Given the description of an element on the screen output the (x, y) to click on. 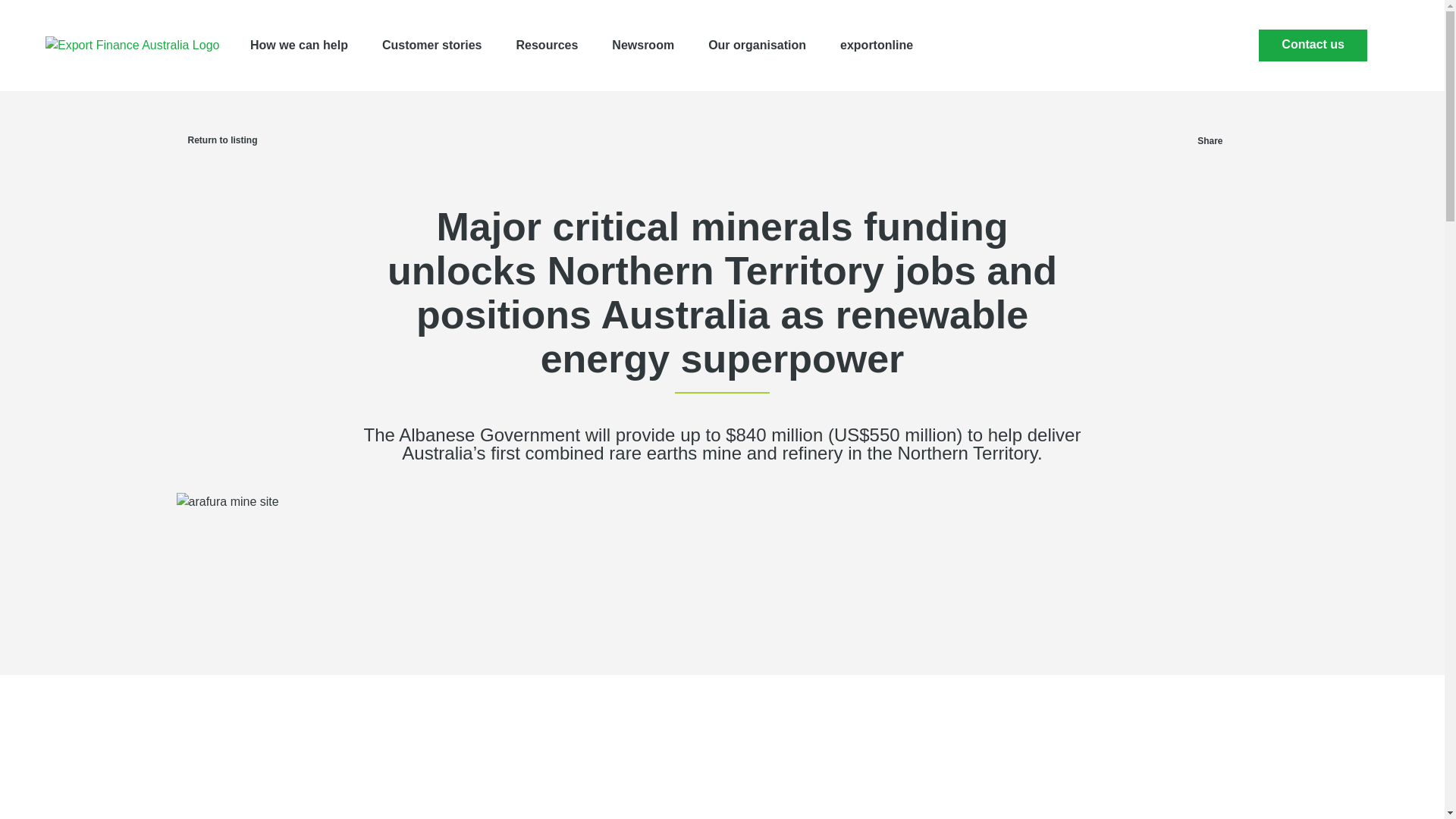
How we can help (298, 45)
Resources (547, 45)
Customer stories (431, 45)
